Given the description of an element on the screen output the (x, y) to click on. 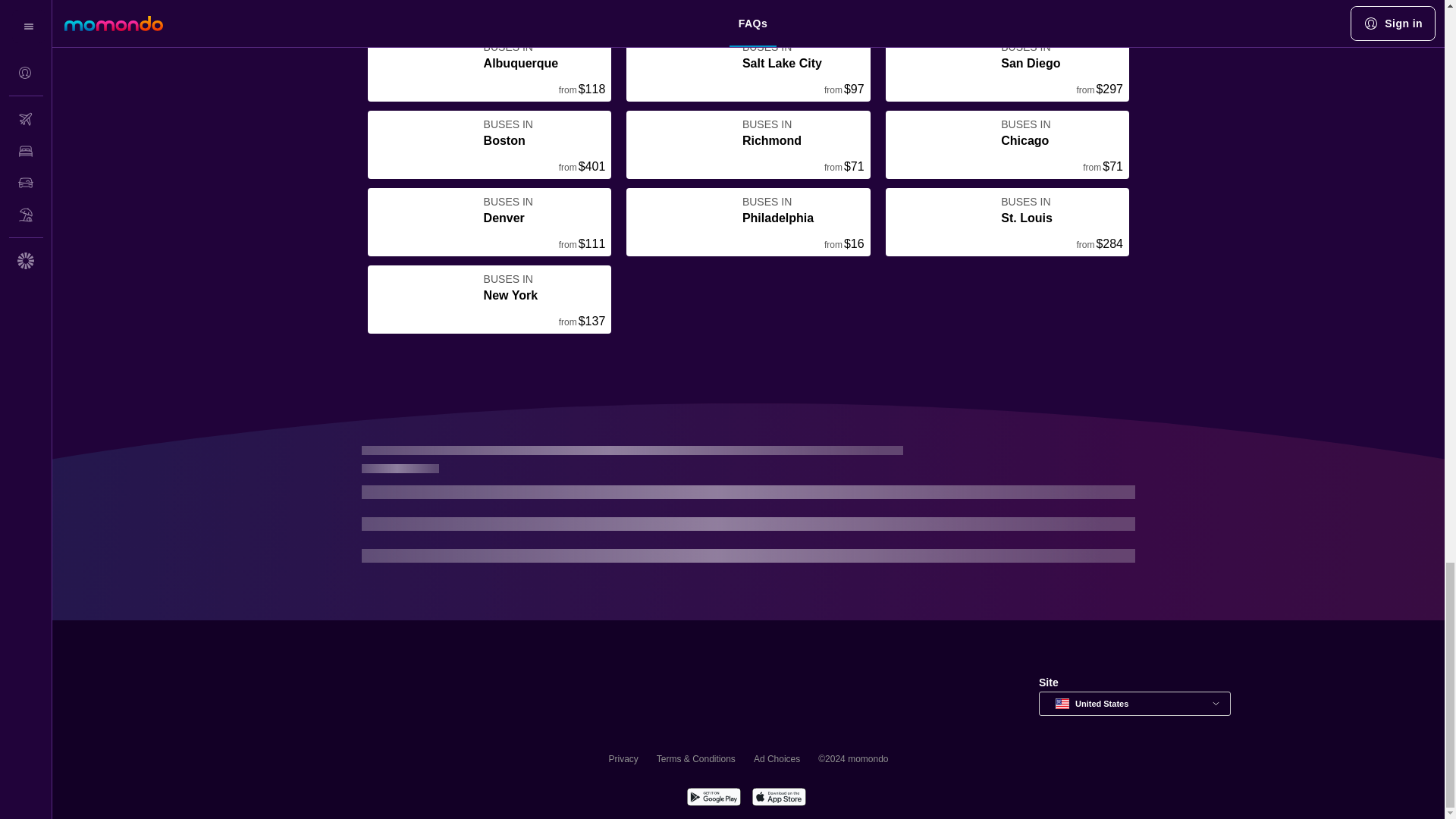
Privacy (622, 758)
Download on the App Store (778, 798)
 United States (1134, 703)
Ad Choices (776, 758)
Get it on Google Play (713, 798)
